Given the description of an element on the screen output the (x, y) to click on. 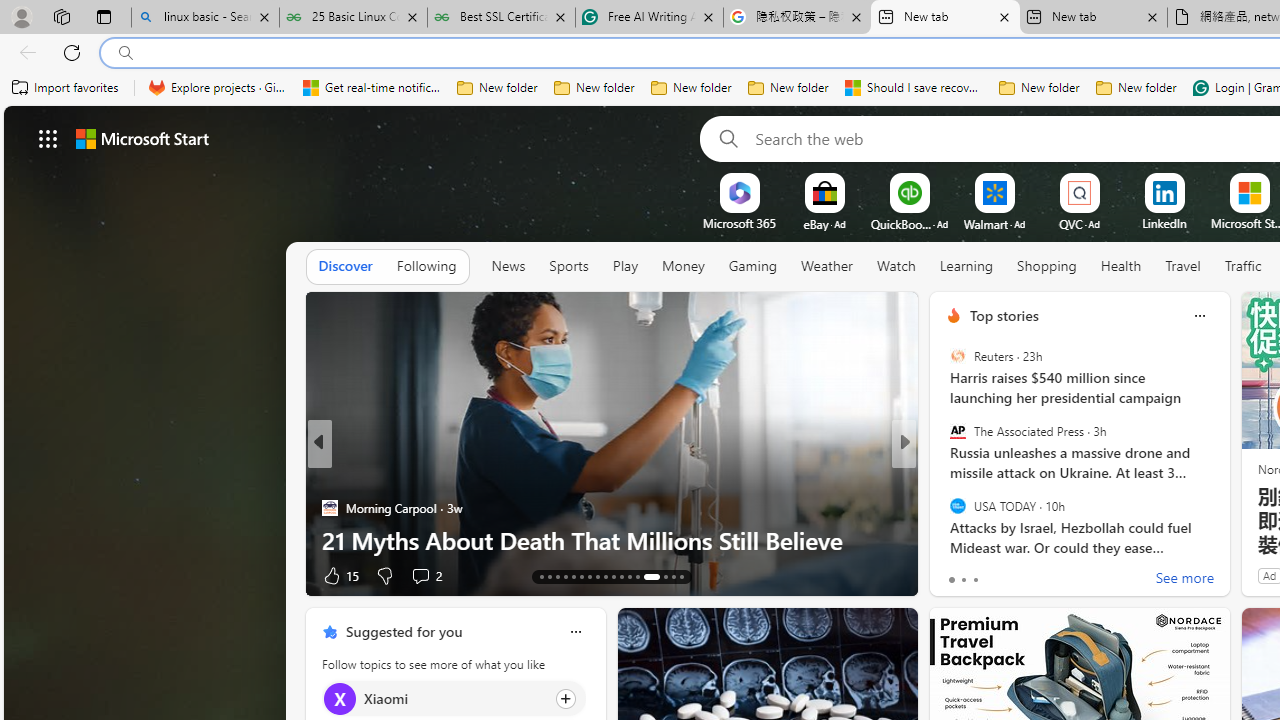
Learn both Singing & Healing (611, 539)
AutomationID: tab-23 (620, 576)
AutomationID: tab-18 (581, 576)
AutomationID: tab-24 (628, 576)
The Associated Press (957, 431)
Weather (826, 265)
AutomationID: tab-16 (564, 576)
25 Basic Linux Commands For Beginners - GeeksforGeeks (353, 17)
AutomationID: tab-14 (549, 576)
